Given the description of an element on the screen output the (x, y) to click on. 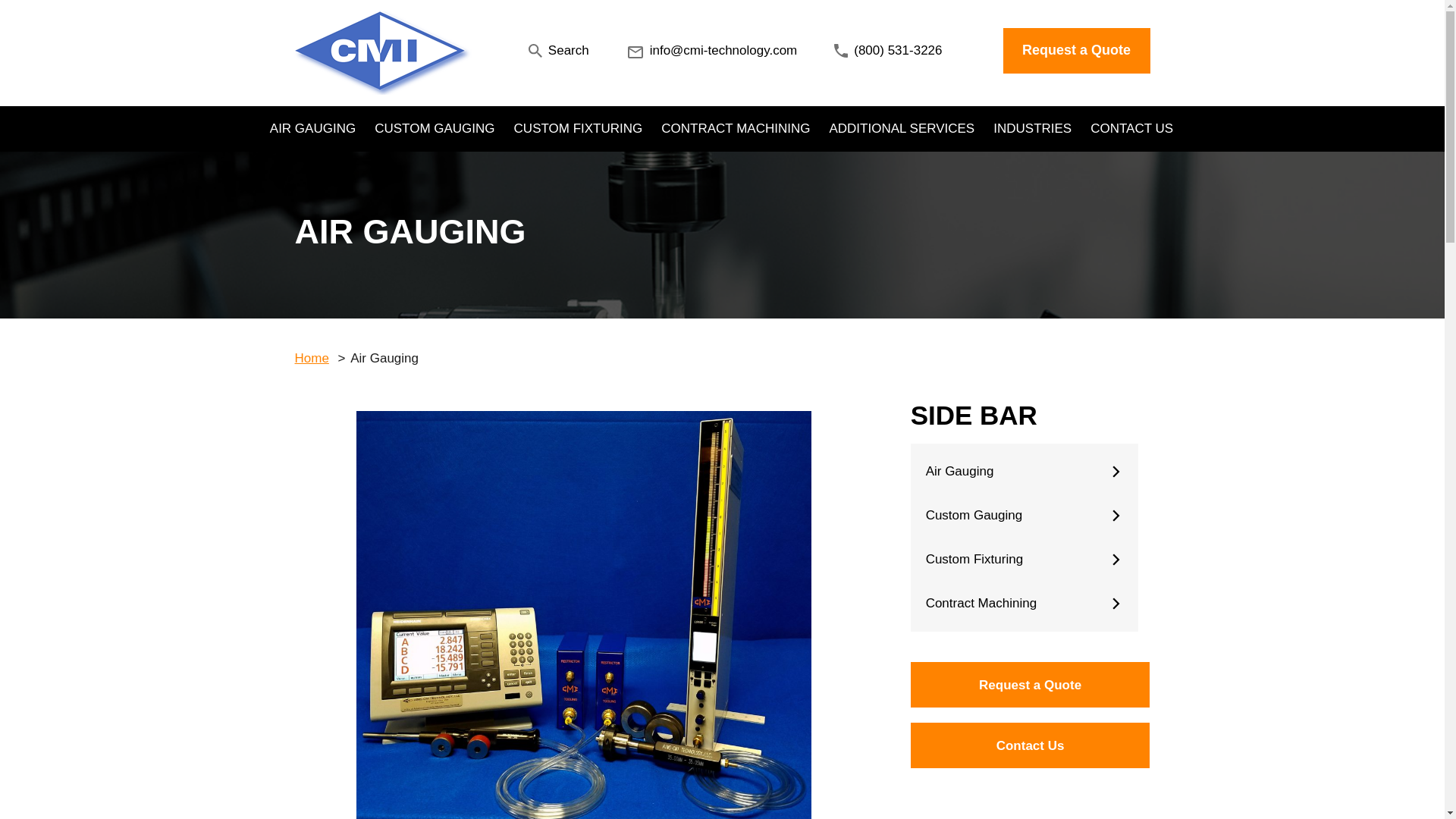
CMI Technology, Inc. (380, 50)
Request a Quote (1076, 50)
ADDITIONAL SERVICES (901, 128)
Request a Quote (1030, 684)
Contract Machining (1024, 603)
CONTACT US (1131, 128)
INDUSTRIES (1032, 128)
CUSTOM GAUGING (434, 128)
Contact Us (1030, 745)
Custom Fixturing (1024, 559)
Search (558, 50)
Home (311, 358)
Custom Gauging (1024, 515)
CUSTOM FIXTURING (578, 128)
AIR GAUGING (311, 128)
